Given the description of an element on the screen output the (x, y) to click on. 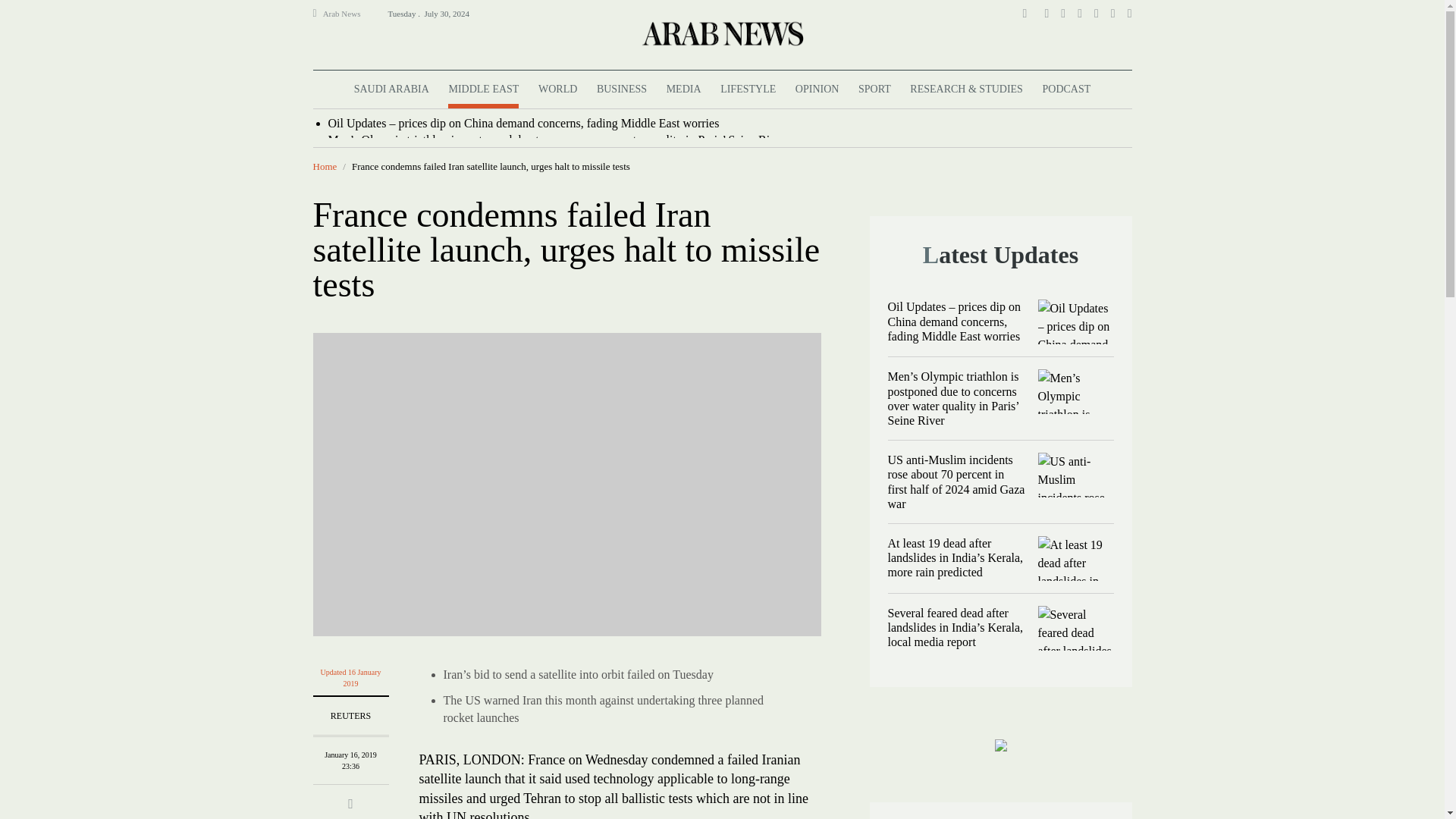
Arabnews (721, 33)
Arab News (348, 13)
